Given the description of an element on the screen output the (x, y) to click on. 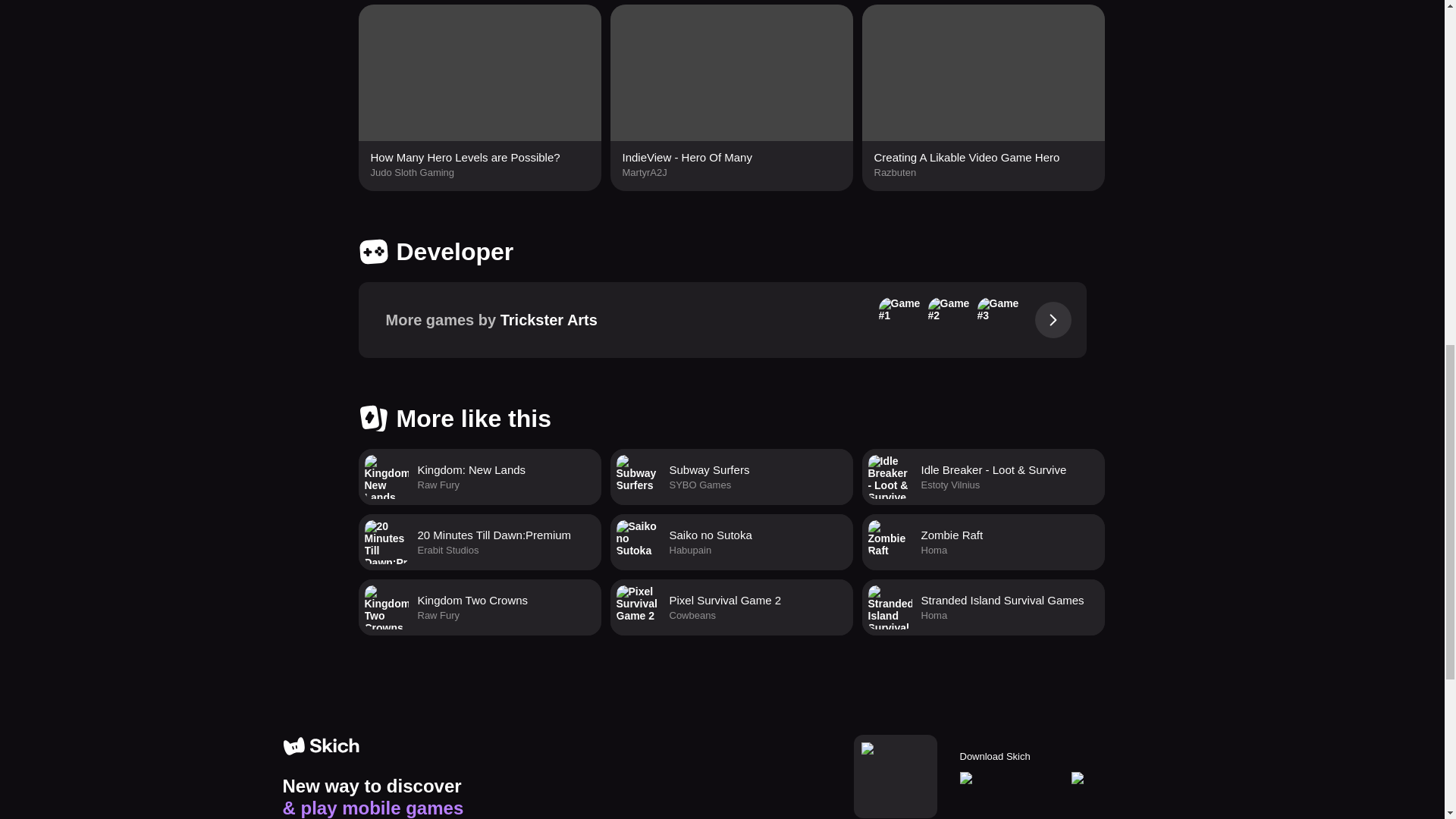
More games by Trickster Arts (722, 319)
